Given the description of an element on the screen output the (x, y) to click on. 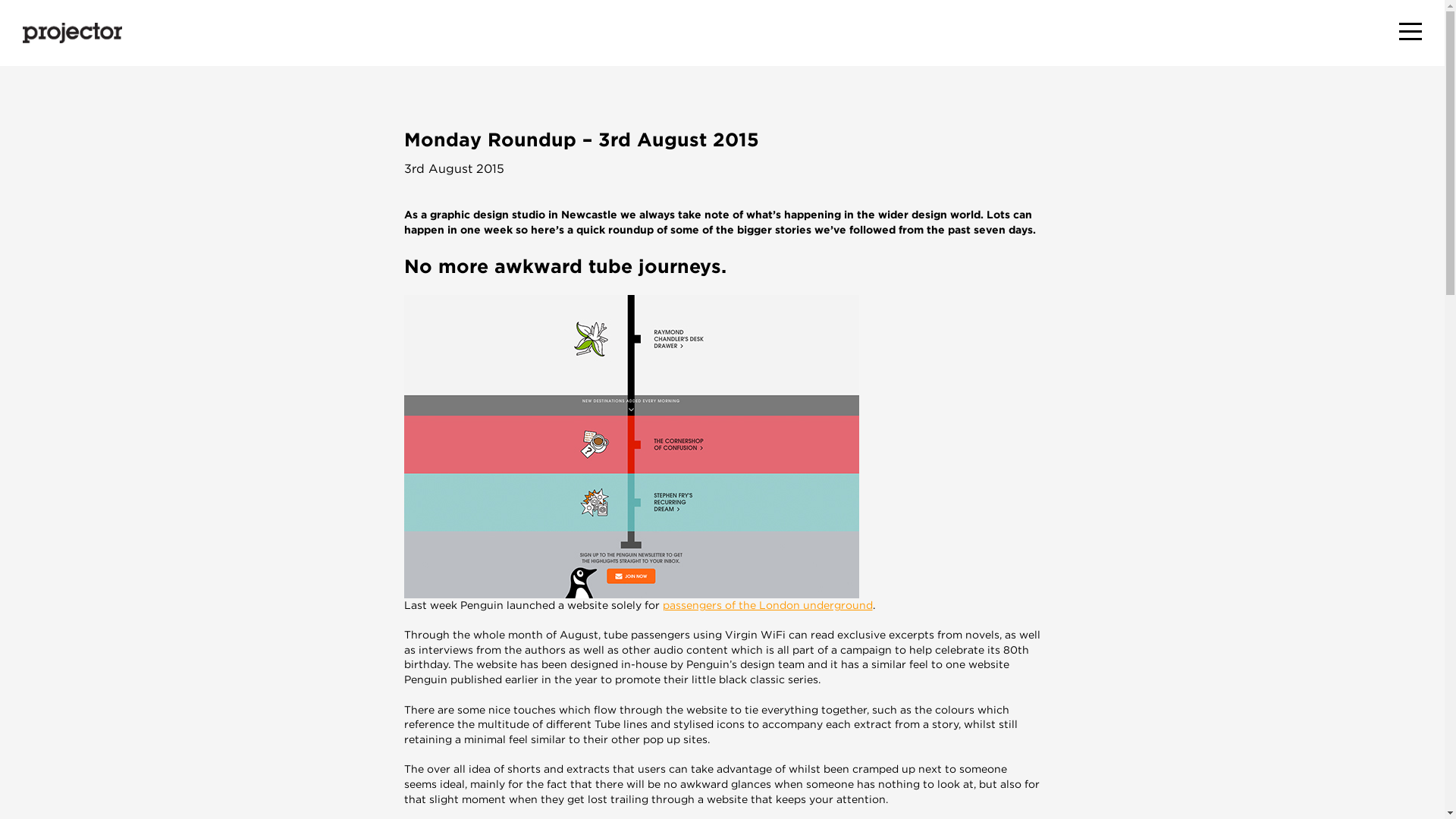
passengers of the London underground (767, 604)
